Given the description of an element on the screen output the (x, y) to click on. 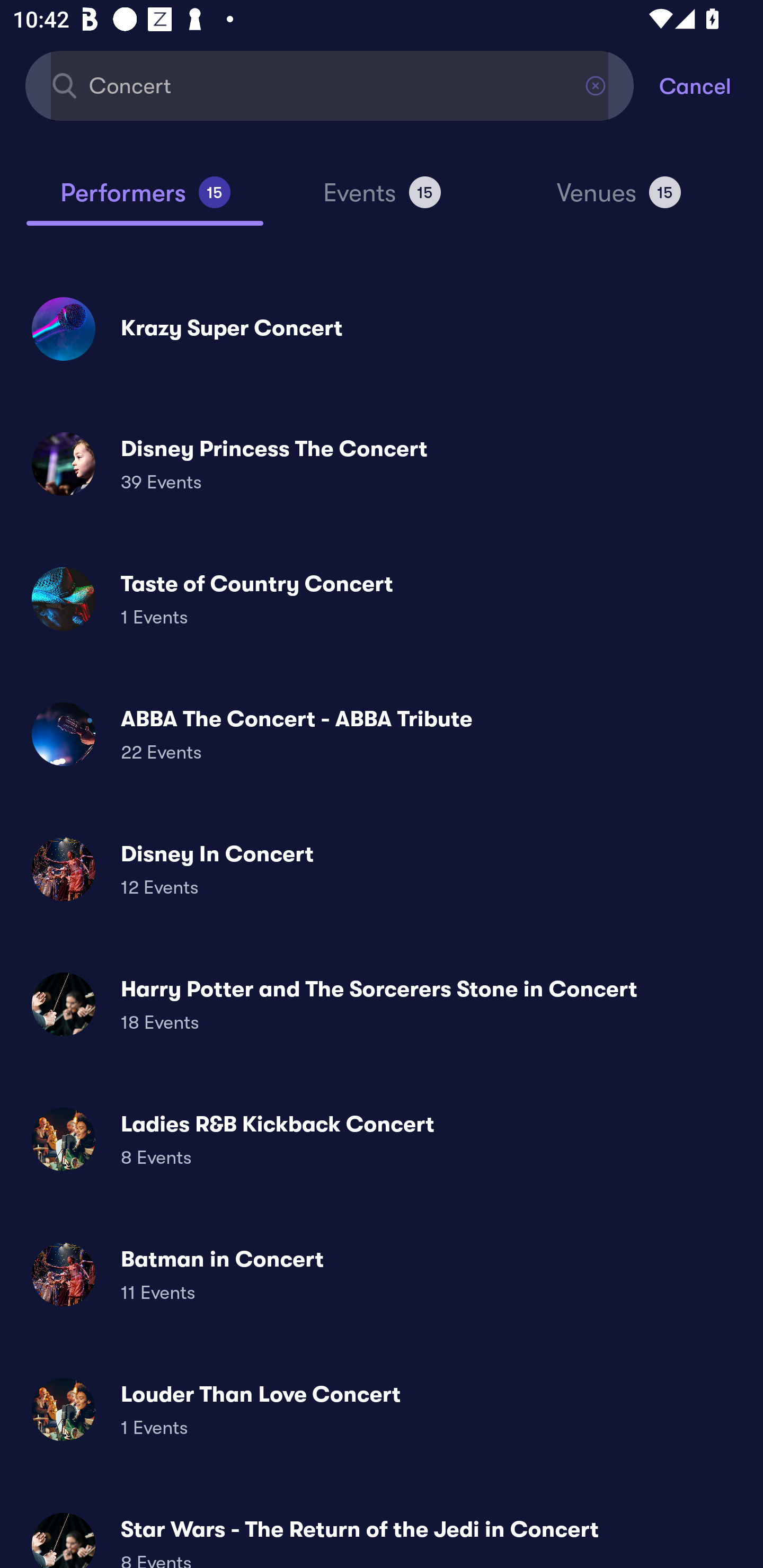
Concert Find (329, 85)
Concert Find (329, 85)
Cancel (711, 85)
Performers 15 (144, 200)
Events 15 (381, 200)
Venues 15 (618, 200)
Krazy Super Concert (381, 328)
Disney Princess The Concert 39 Events (381, 464)
Taste of Country Concert 1 Events (381, 598)
ABBA The Concert - ABBA Tribute 22 Events (381, 734)
Disney In Concert 12 Events (381, 869)
Ladies R&B Kickback Concert 8 Events (381, 1138)
Batman in Concert 11 Events (381, 1273)
Louder Than Love Concert 1 Events (381, 1409)
